Given the description of an element on the screen output the (x, y) to click on. 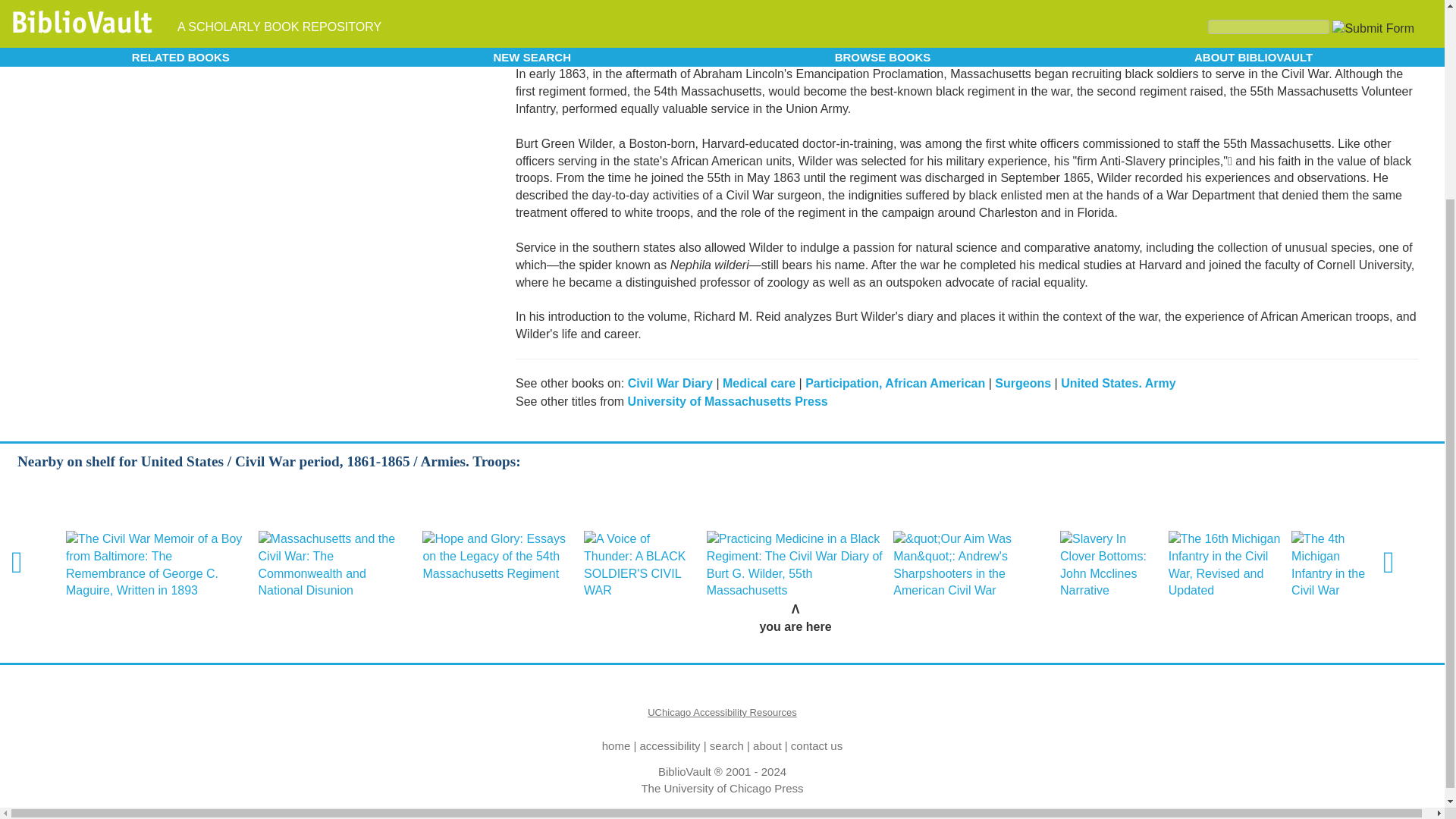
Civil War Diary (670, 382)
Medical care (758, 382)
Participation, African American (895, 382)
A Voice of Thunder: A BLACK SOLDIER'S CIVIL WAR (640, 565)
